Given the description of an element on the screen output the (x, y) to click on. 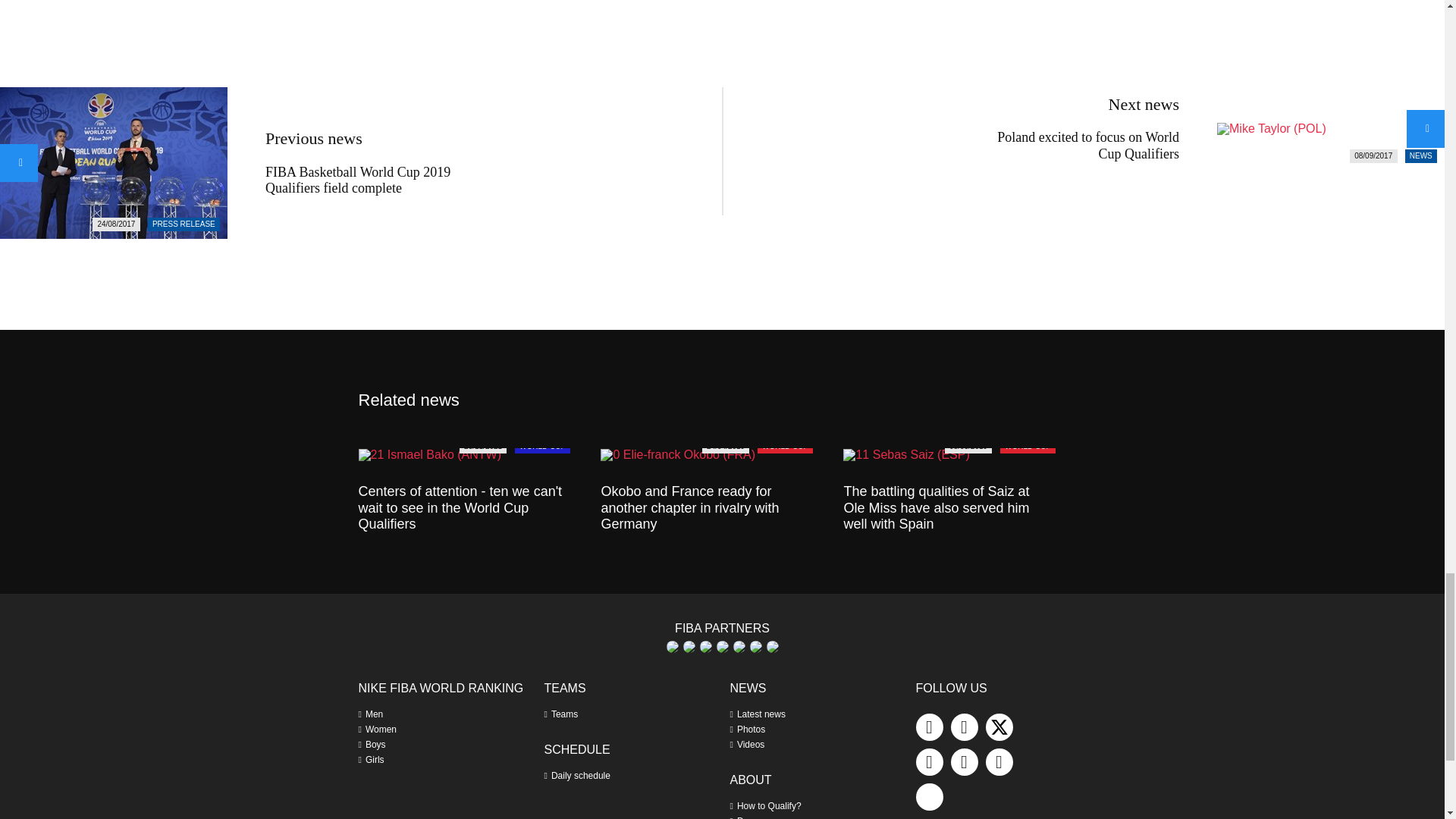
Wanda Group (771, 646)
Molten BG5000 Special Website (704, 646)
TCL (738, 646)
Nike (722, 646)
Tissot (755, 646)
Ganten (688, 646)
BG (671, 646)
